Given the description of an element on the screen output the (x, y) to click on. 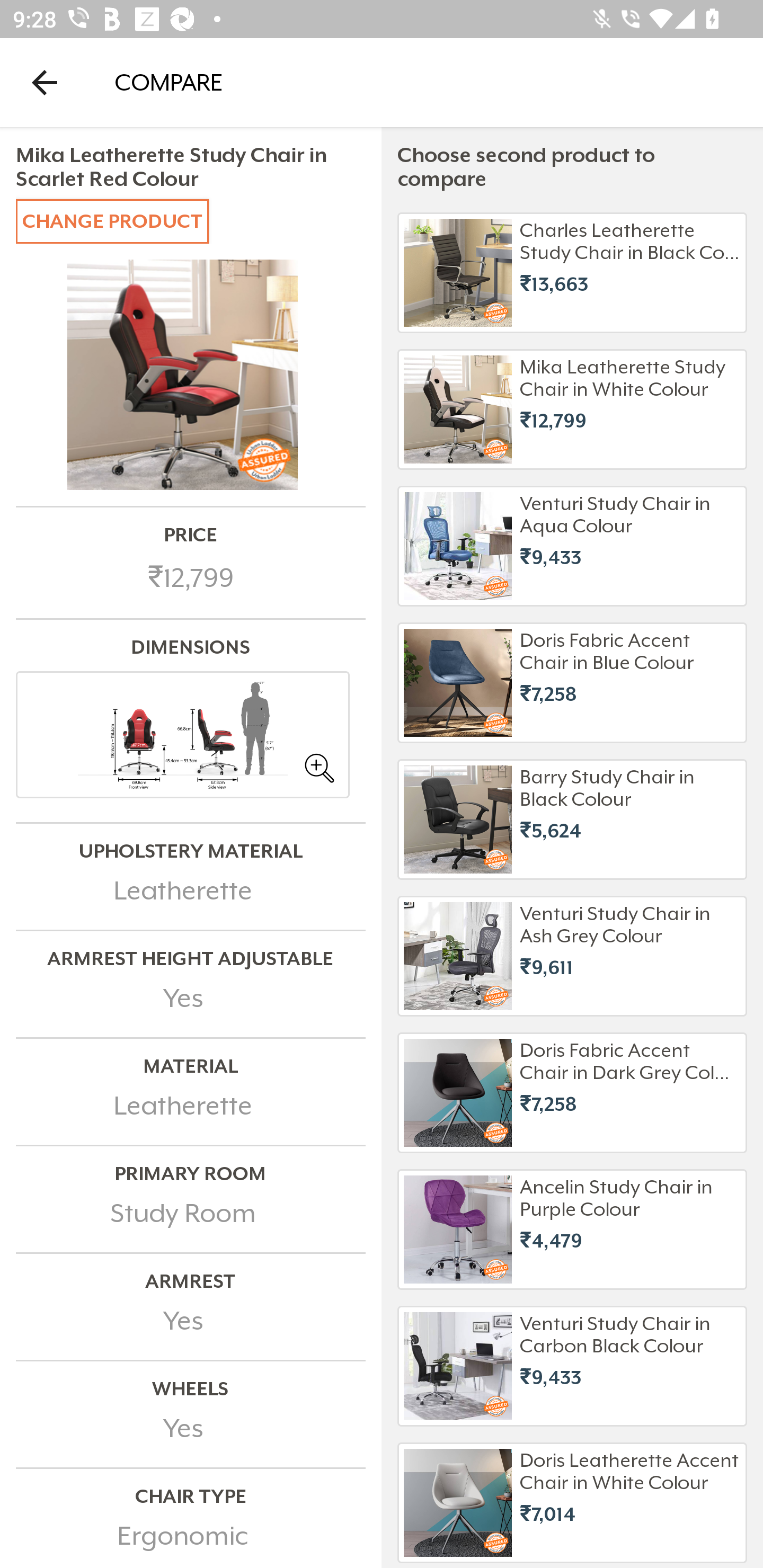
Navigate up (44, 82)
CHANGE PRODUCT (112, 221)
Venturi Study Chair in Aqua Colour ₹9,433 (571, 546)
Doris Fabric Accent Chair in Blue Colour ₹7,258 (571, 682)
Barry Study Chair in Black Colour ₹5,624 (571, 818)
Venturi Study Chair in Ash Grey Colour ₹9,611 (571, 955)
Ancelin Study Chair in Purple Colour ₹4,479 (571, 1229)
Venturi Study Chair in Carbon Black Colour ₹9,433 (571, 1366)
